Given the description of an element on the screen output the (x, y) to click on. 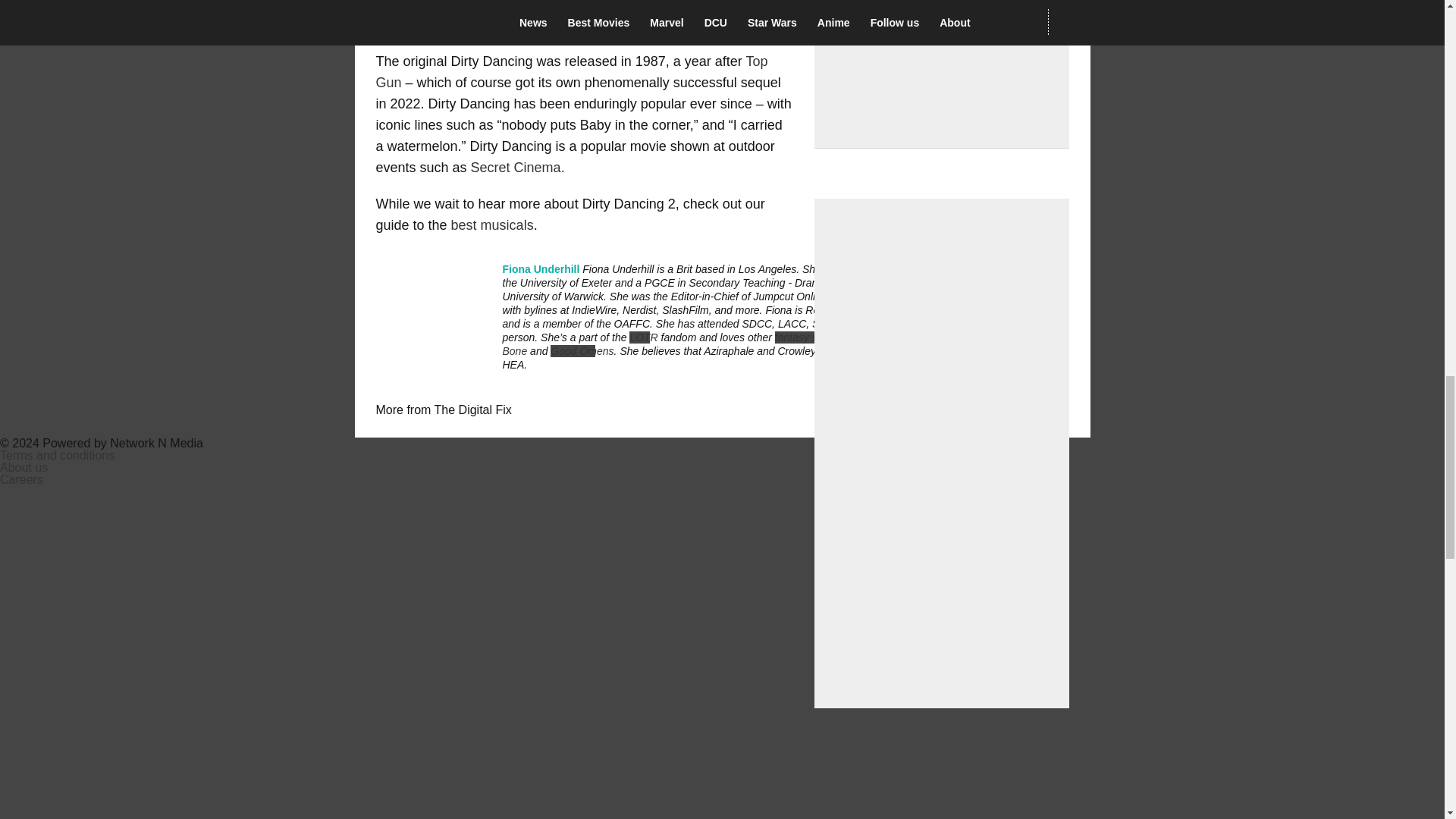
Top Gun (571, 72)
best musicals (492, 224)
Secret Cinema. (517, 167)
